Given the description of an element on the screen output the (x, y) to click on. 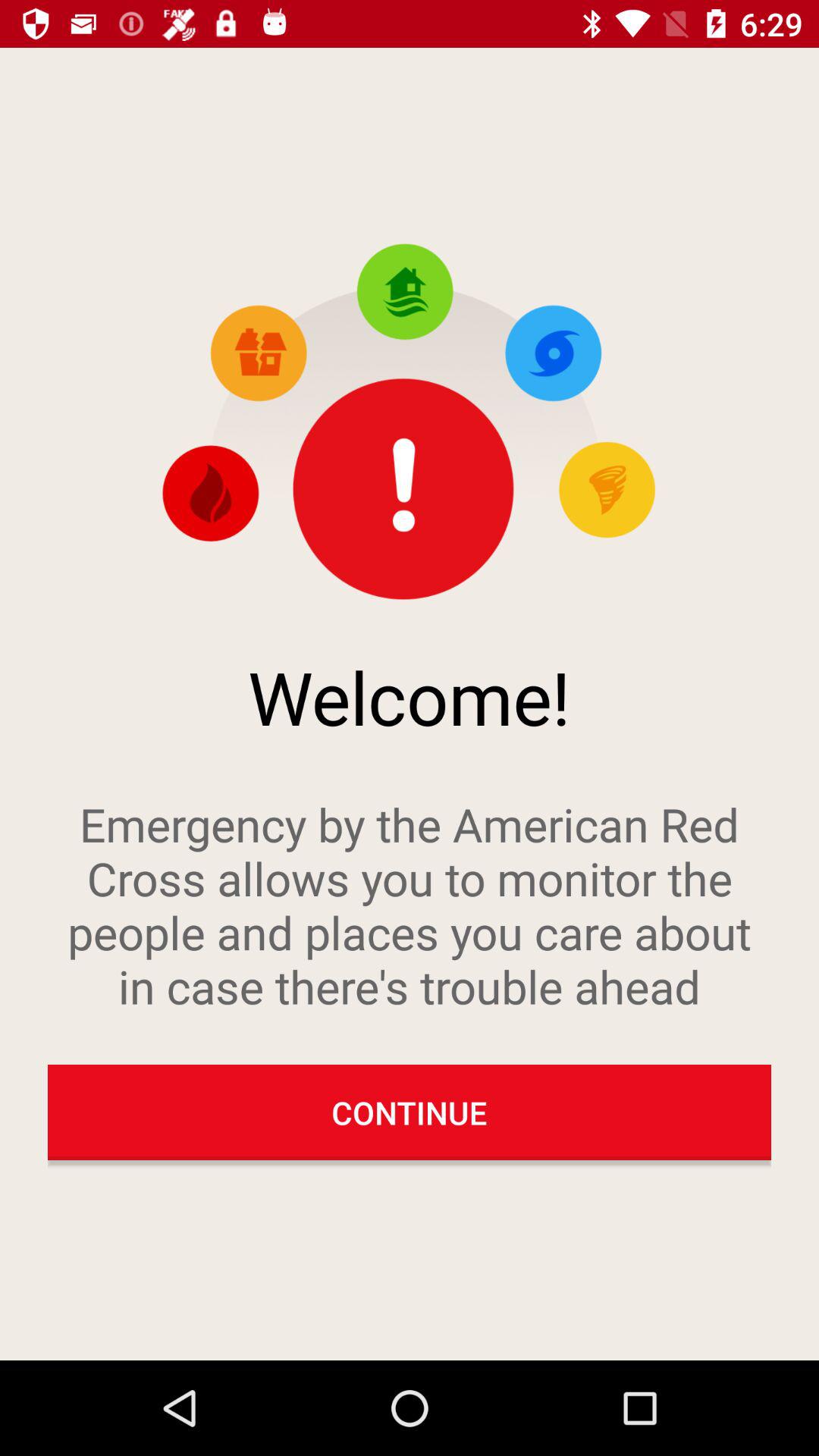
tap the item below emergency by the icon (409, 1112)
